Given the description of an element on the screen output the (x, y) to click on. 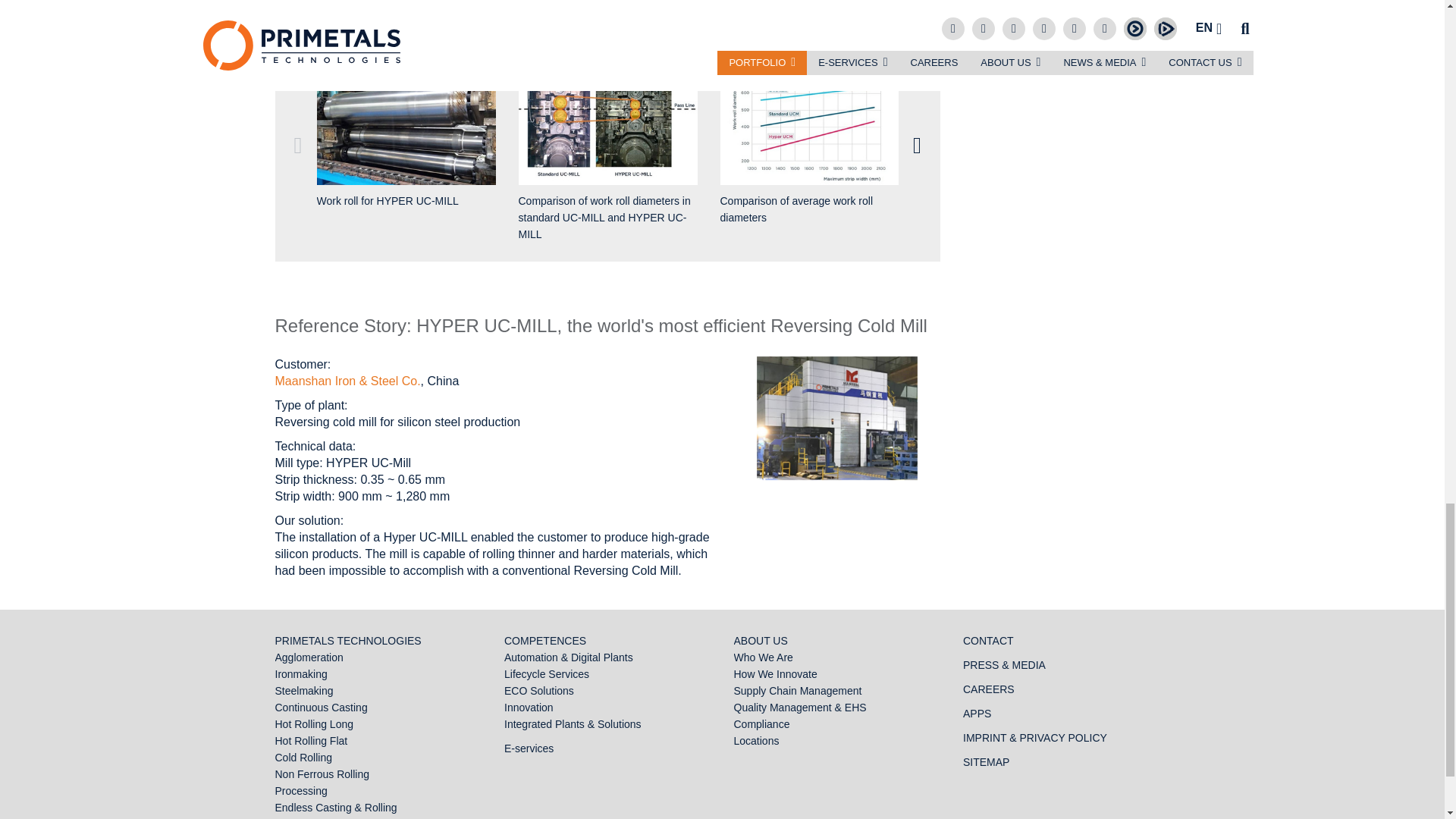
Work roll for HYPER UC-MILL (406, 126)
Comparison of average work roll diameters (809, 146)
Work roll for HYPER UC-MILL (406, 138)
Comparison of average work roll diameters (809, 126)
